Given the description of an element on the screen output the (x, y) to click on. 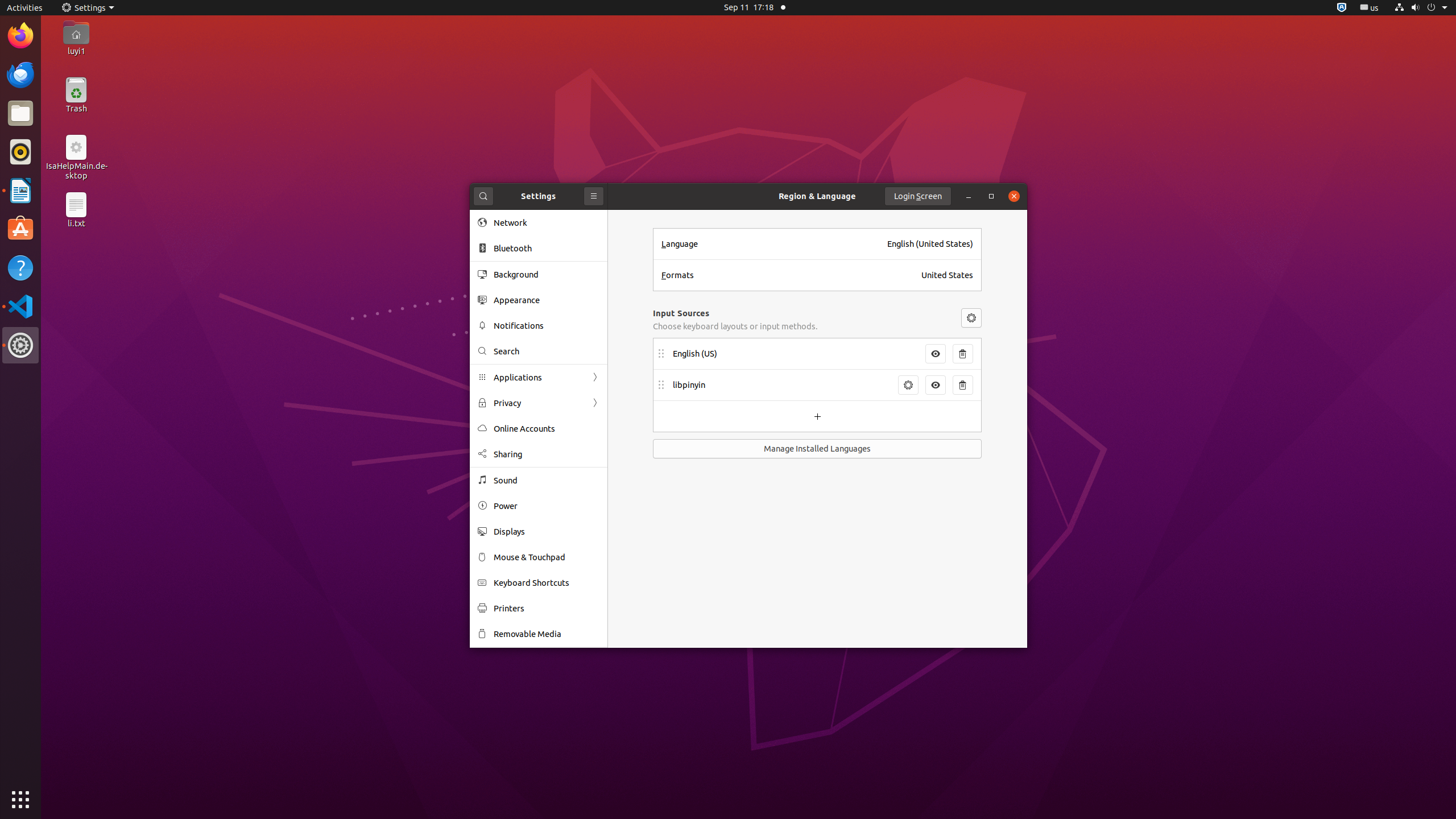
LibreOffice Writer Element type: push-button (20, 190)
:1.21/StatusNotifierItem Element type: menu (1369, 7)
Menu Element type: toggle-button (971, 317)
Manage Installed Languages Element type: push-button (816, 448)
Add Element type: icon (817, 416)
